Given the description of an element on the screen output the (x, y) to click on. 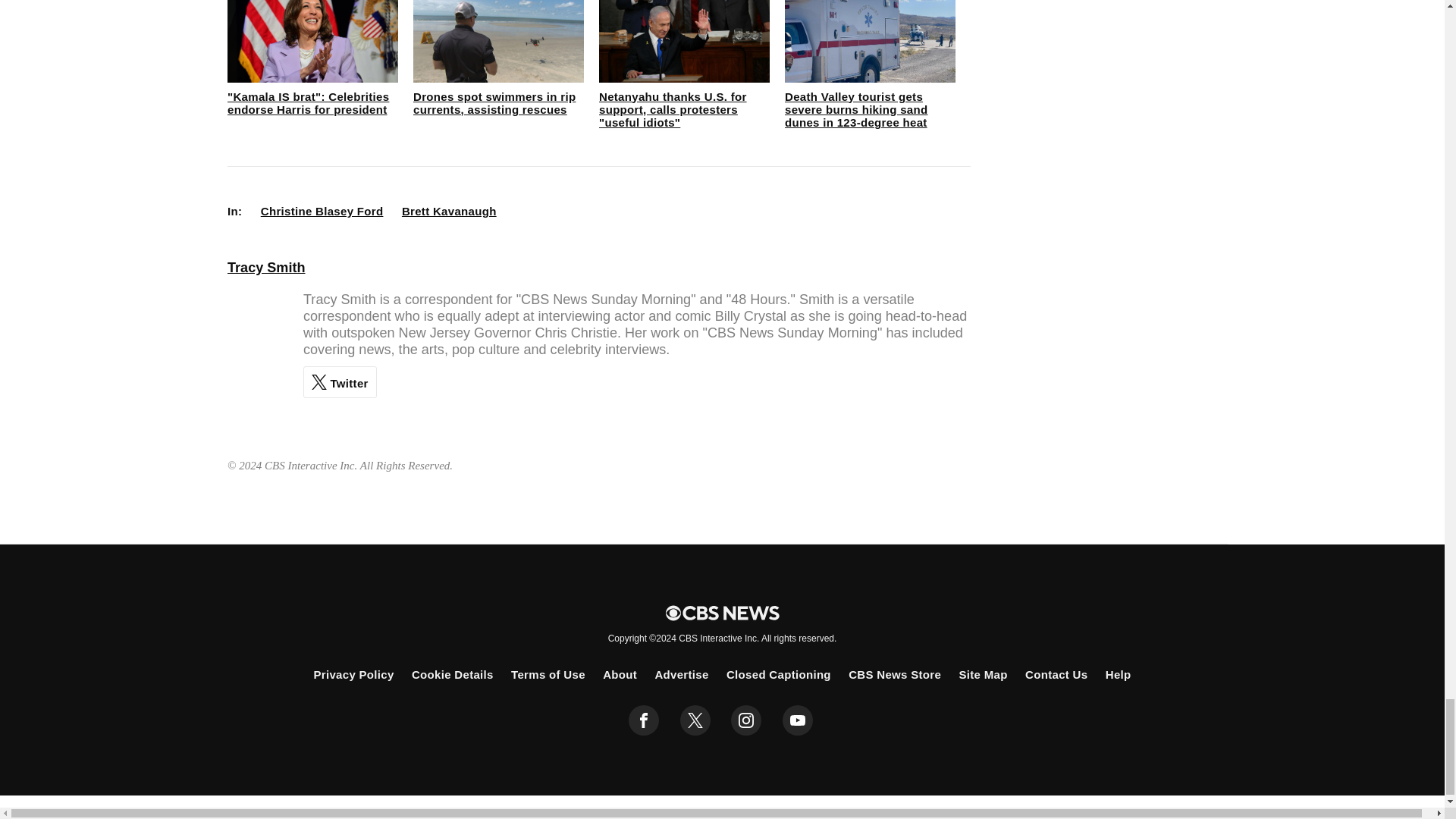
twitter (694, 720)
youtube (797, 720)
facebook (643, 720)
instagram (745, 720)
